Given the description of an element on the screen output the (x, y) to click on. 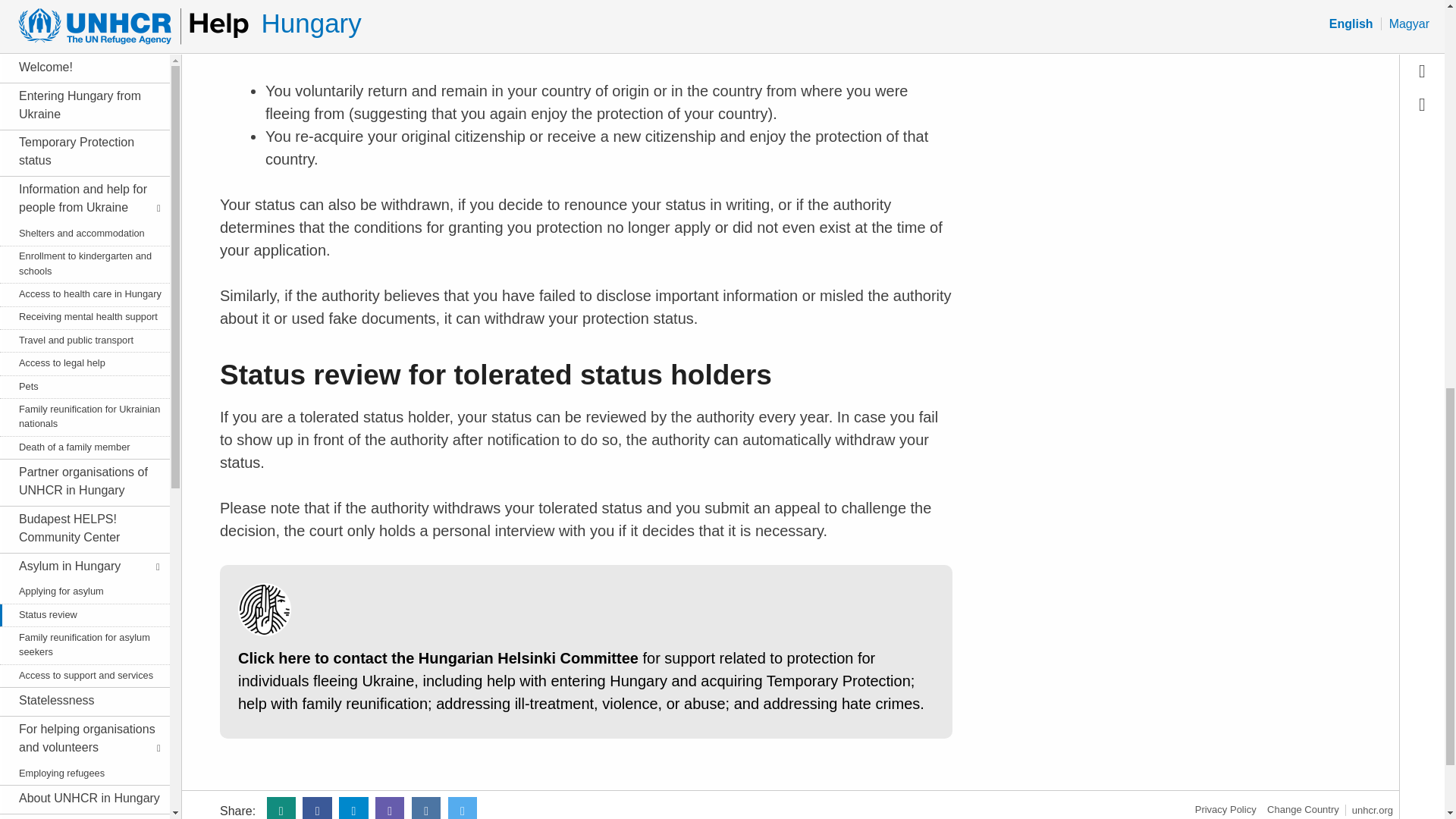
Verify the offers you receive online (81, 326)
Your life online, far away from home (81, 226)
Protect your devices, accounts, and data (81, 113)
Keep your children safe from online threats (81, 152)
help.unhcr.org (1302, 808)
If you experienced trauma or violence (81, 420)
Reporting misconduct (81, 382)
Identify reliable sources of information (81, 265)
Interact safely with others online (81, 355)
Seek assistance safely online (81, 295)
